Given the description of an element on the screen output the (x, y) to click on. 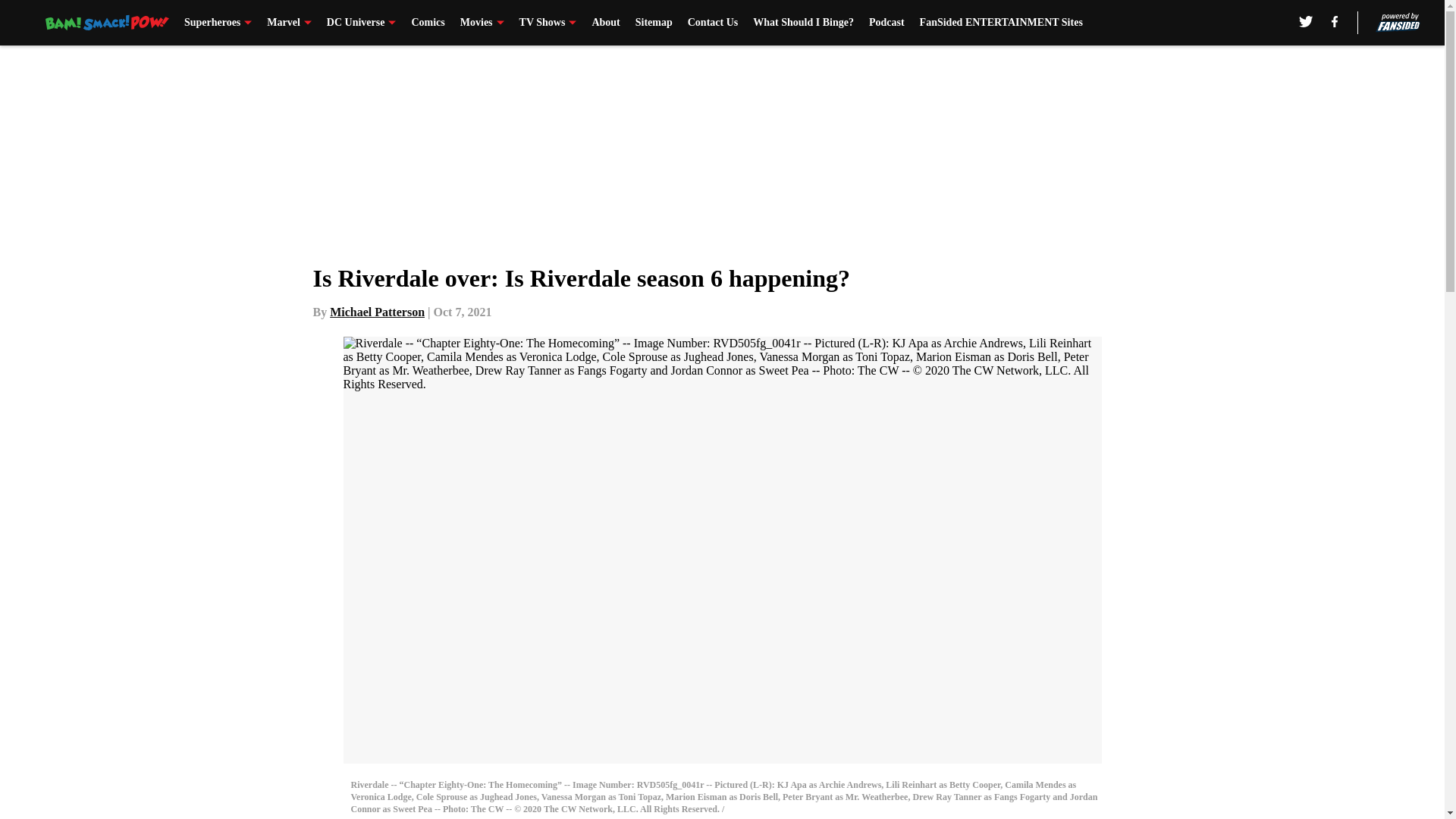
FanSided ENTERTAINMENT Sites (1001, 22)
Sitemap (653, 22)
Podcast (886, 22)
Movies (481, 22)
About (605, 22)
What Should I Binge? (802, 22)
Comics (427, 22)
Contact Us (712, 22)
Michael Patterson (377, 311)
